Given the description of an element on the screen output the (x, y) to click on. 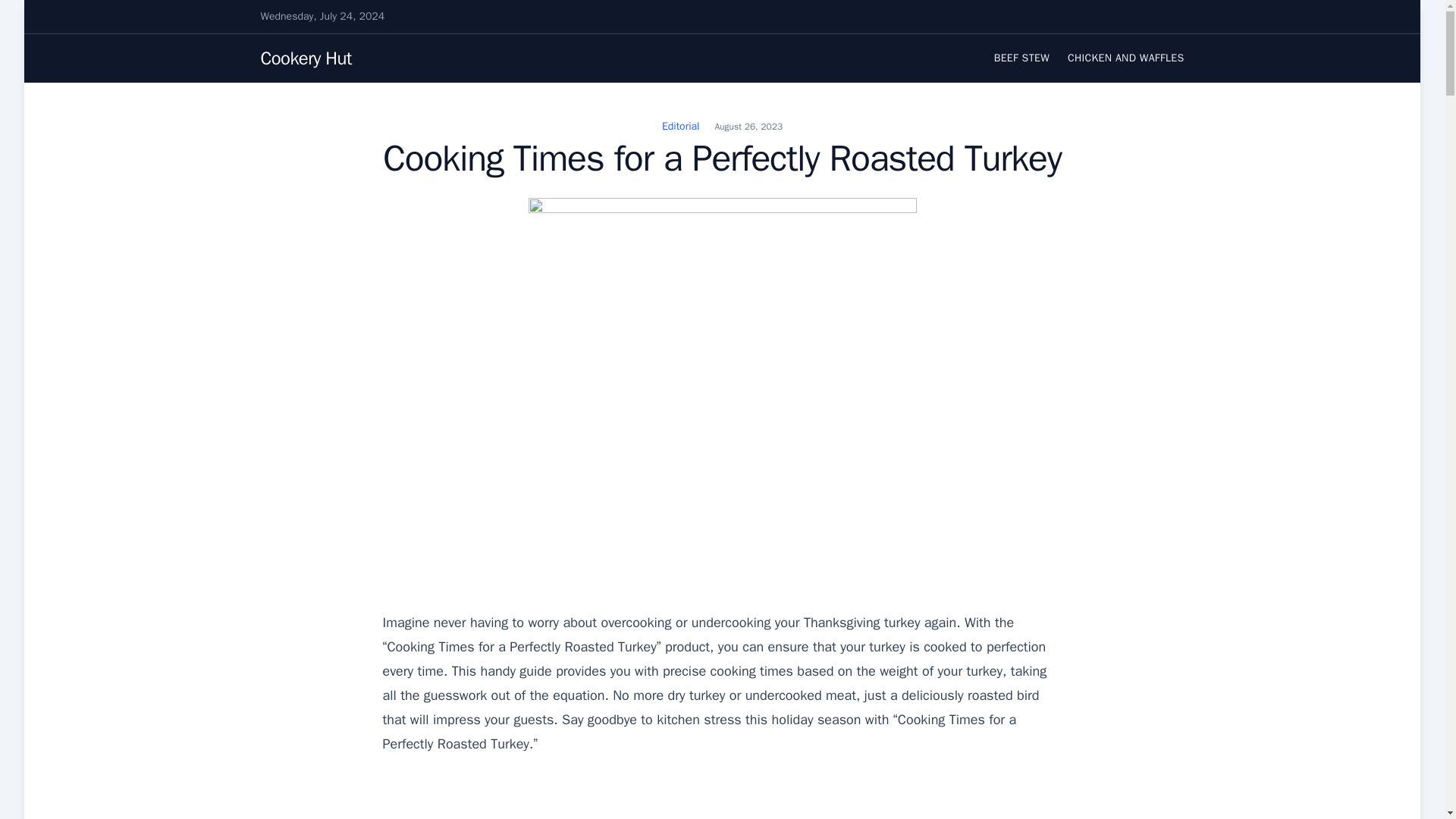
BEEF STEW (1021, 57)
Cookery Hut (306, 57)
August 26, 2023 (748, 126)
CHICKEN AND WAFFLES (1126, 57)
Editorial (680, 125)
